Given the description of an element on the screen output the (x, y) to click on. 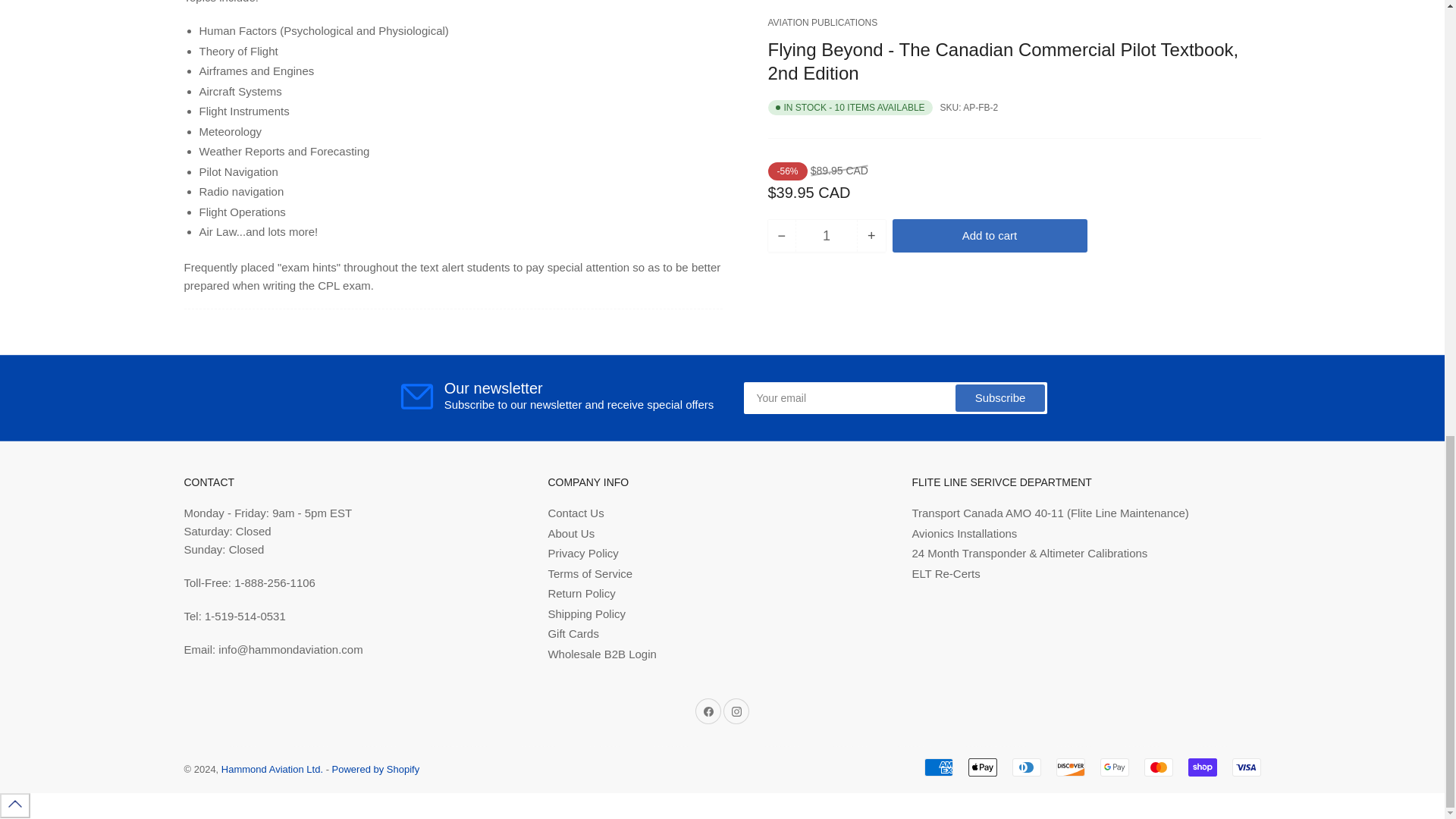
Apple Pay (981, 767)
Discover (1069, 767)
American Express (937, 767)
Diners Club (1026, 767)
